Given the description of an element on the screen output the (x, y) to click on. 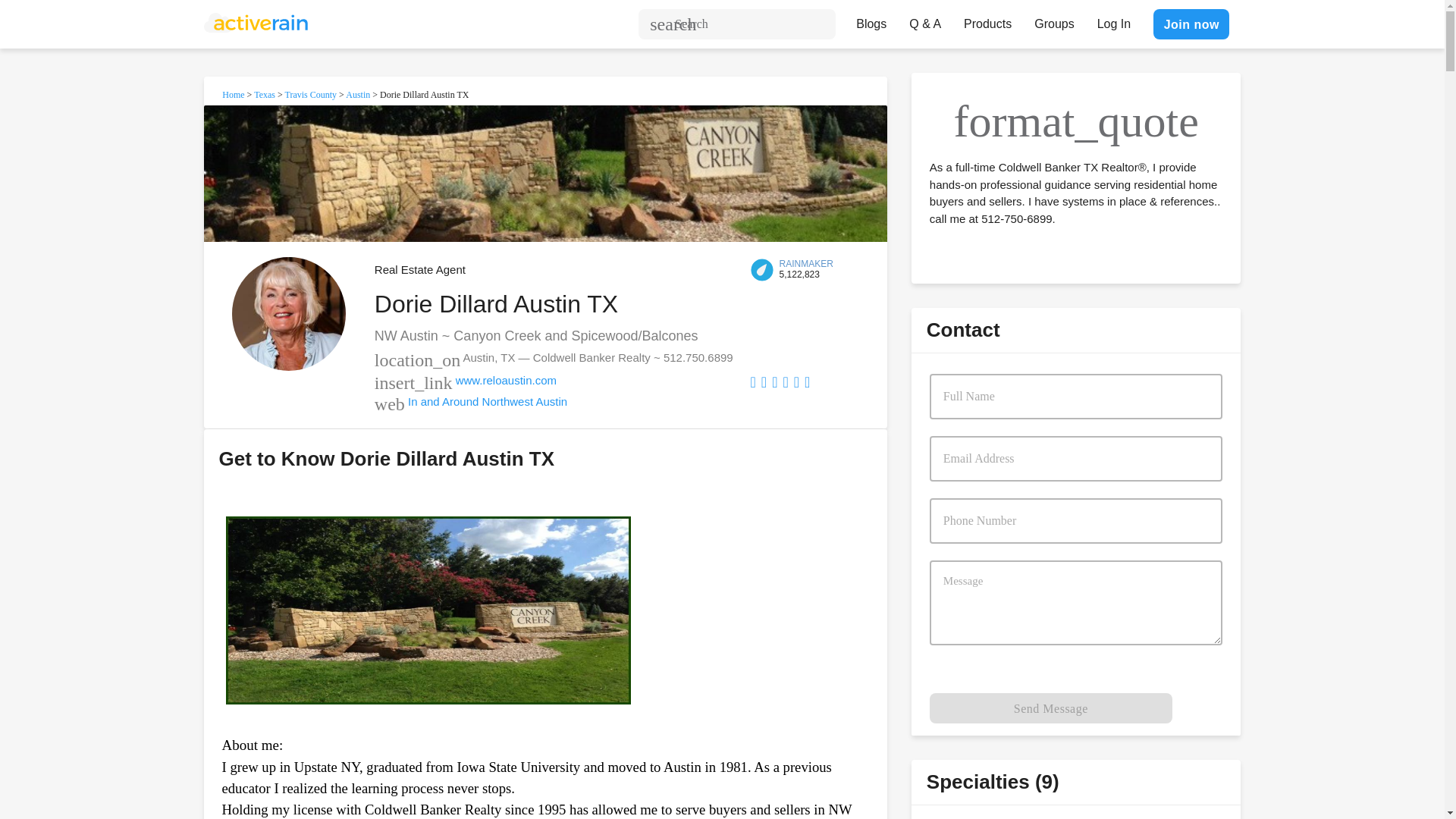
Log In (1113, 19)
Youtube (796, 382)
web In and Around Northwest Austin (470, 400)
Send Message (1051, 707)
Travis County (311, 94)
Groups (1053, 19)
Texas (264, 94)
Pinterest (774, 382)
Home (233, 94)
Twitter (785, 382)
Austin (357, 94)
Products (986, 19)
Blogs (870, 19)
Facebook (753, 382)
Instagram (807, 382)
